Given the description of an element on the screen output the (x, y) to click on. 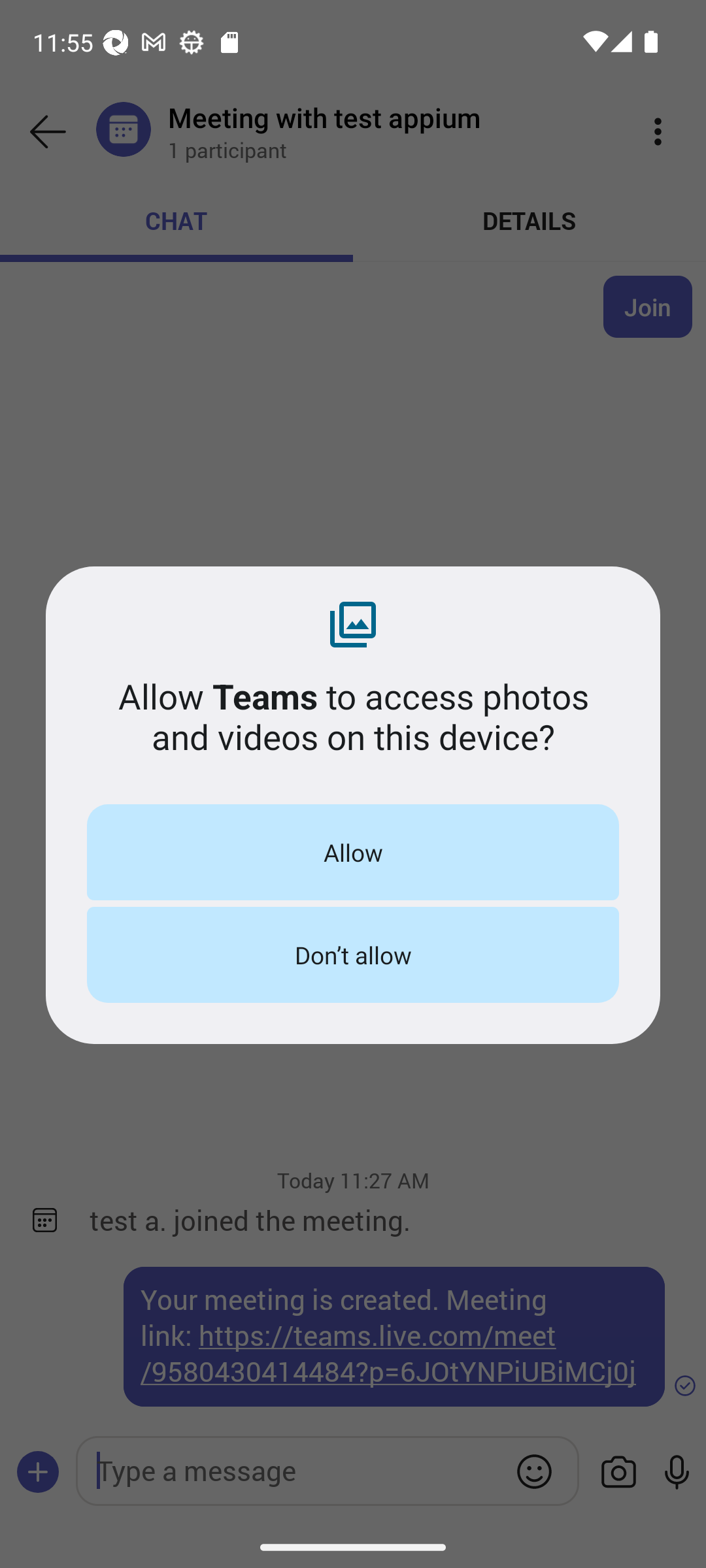
Allow (352, 852)
Don’t allow (352, 954)
